Given the description of an element on the screen output the (x, y) to click on. 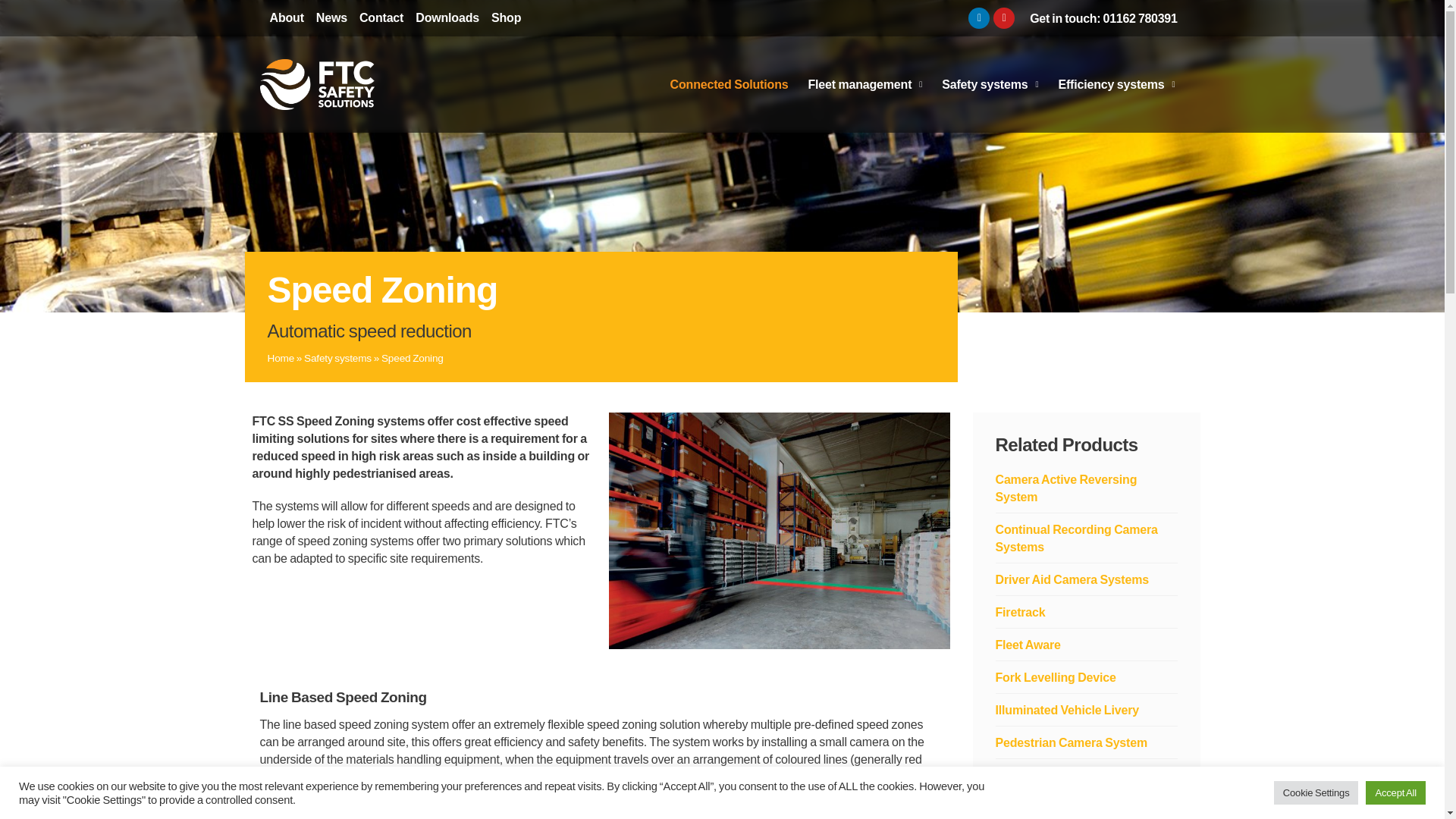
About (286, 17)
Downloads (446, 17)
News (331, 17)
Shop (505, 17)
Contact (381, 17)
Connected Solutions (729, 84)
Fleet management (864, 84)
Efficiency systems (1116, 84)
Safety systems (989, 84)
